Given the description of an element on the screen output the (x, y) to click on. 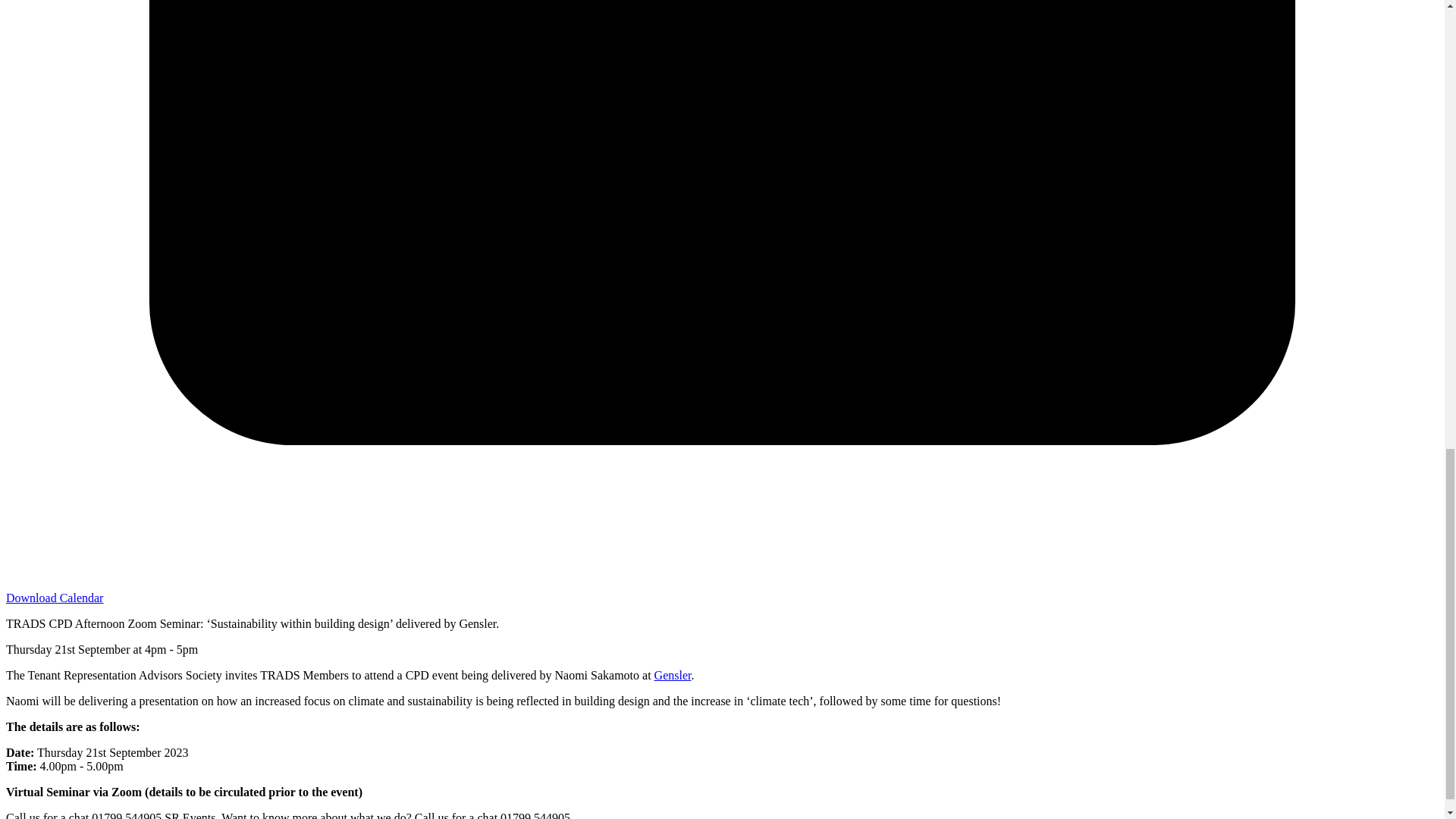
Gensler (672, 675)
Download calendar ICS file (54, 597)
Download Calendar (54, 597)
